Given the description of an element on the screen output the (x, y) to click on. 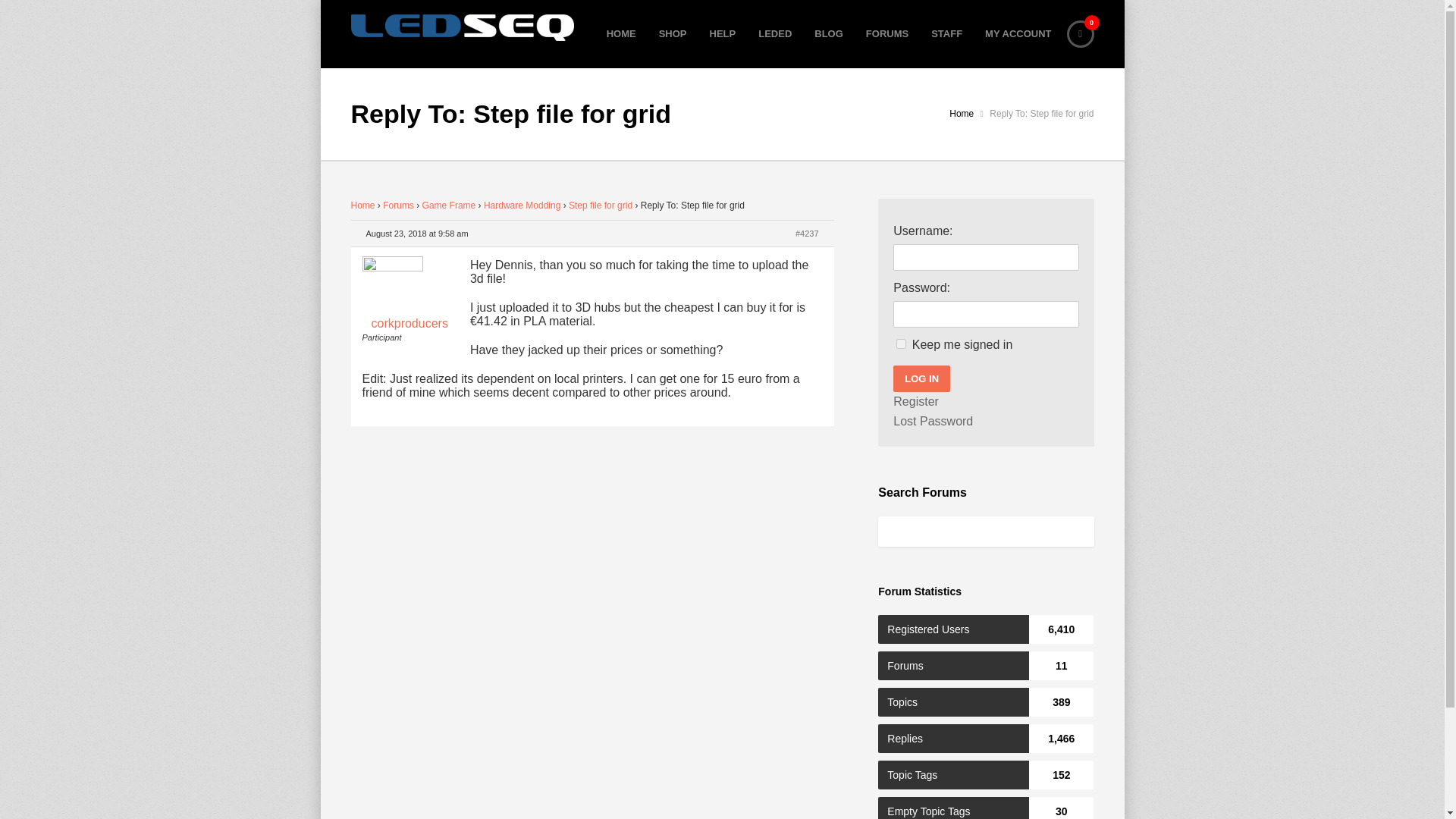
Lost Password (932, 421)
Register (916, 401)
Home (362, 204)
LEDSEQ (461, 27)
View corkproducers's profile (410, 295)
Start shopping (1079, 33)
Lost Password (932, 421)
0 (1079, 33)
Game Frame (722, 33)
